Given the description of an element on the screen output the (x, y) to click on. 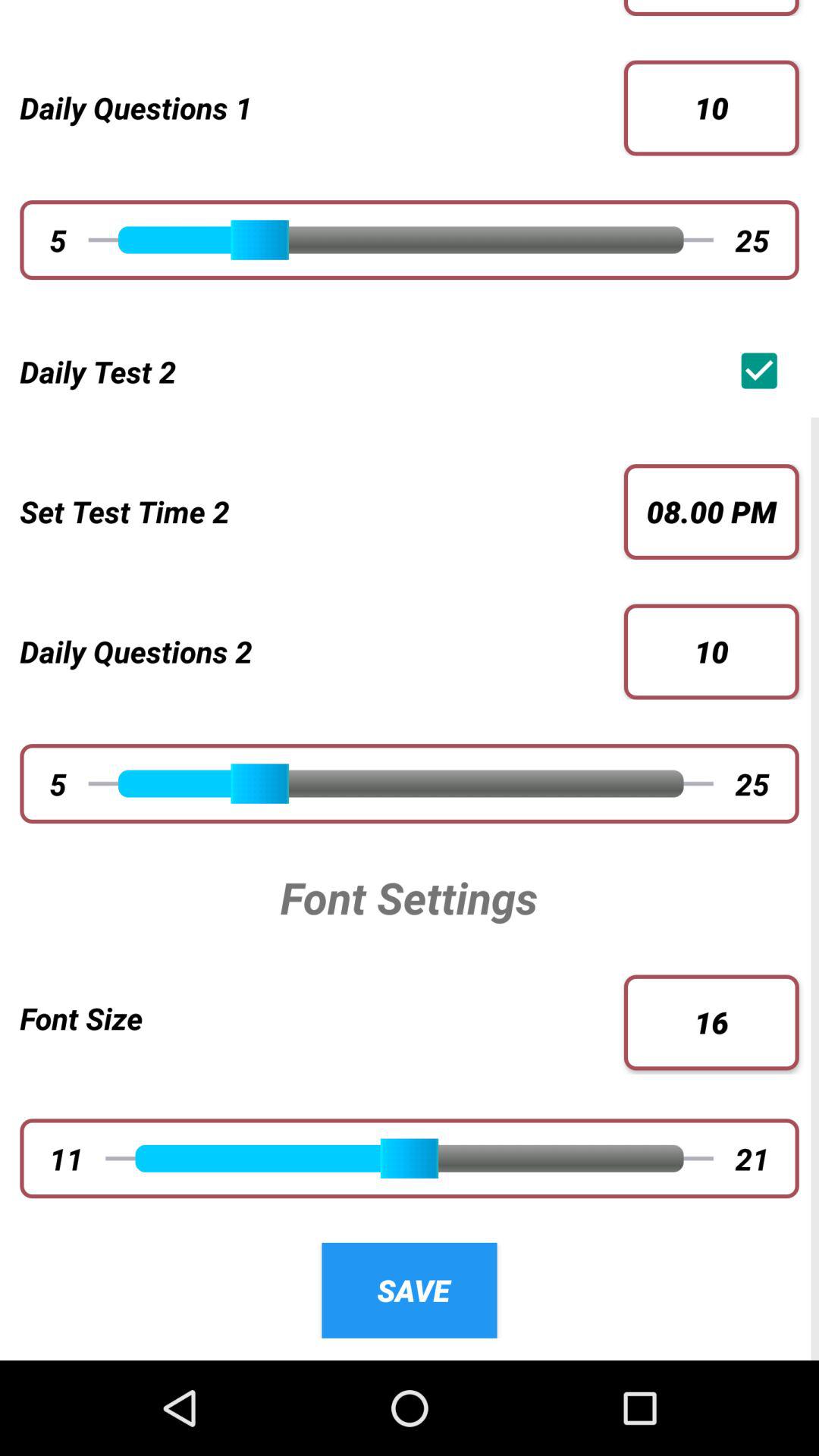
select the   item (763, 370)
